Given the description of an element on the screen output the (x, y) to click on. 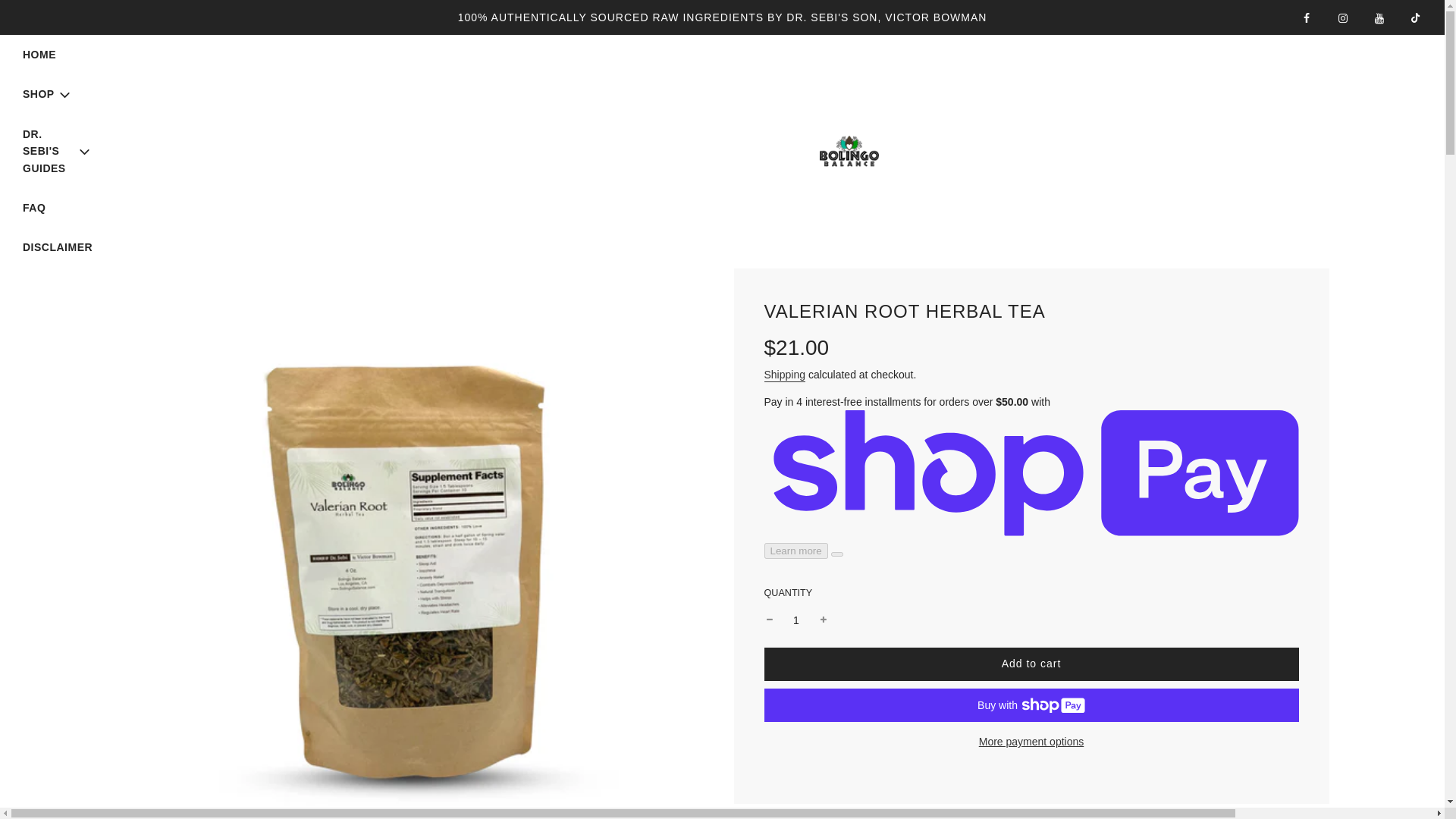
1 (796, 620)
SHOP (47, 94)
DISCLAIMER (57, 246)
DR. SEBI'S GUIDES (57, 151)
FAQ (33, 207)
HOME (38, 54)
